Given the description of an element on the screen output the (x, y) to click on. 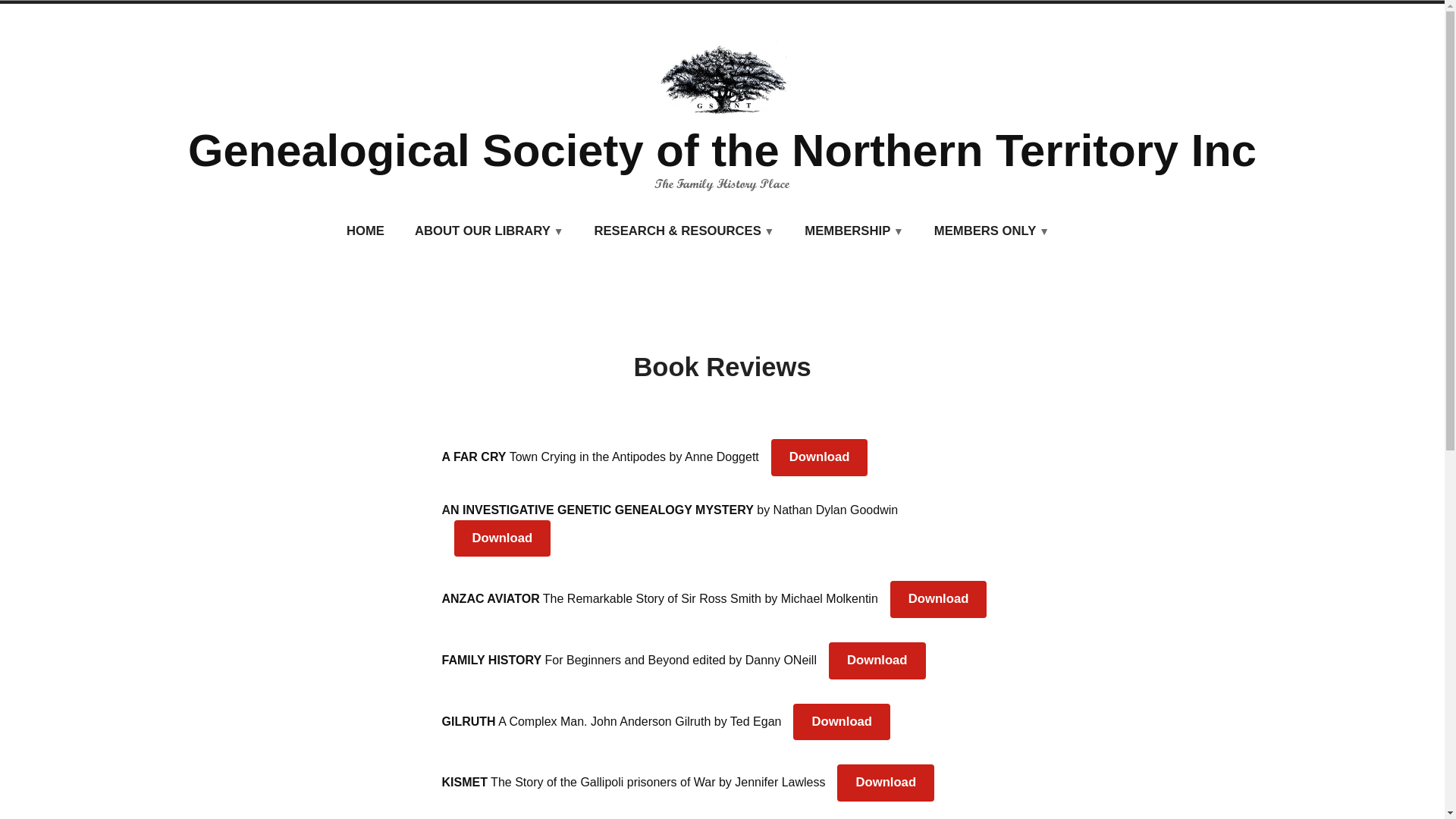
HOME Element type: text (365, 232)
MEMBERSHIP Element type: text (854, 232)
Download Element type: text (885, 782)
Download Element type: text (876, 660)
Download Element type: text (819, 457)
RESEARCH & RESOURCES Element type: text (683, 232)
Download Element type: text (841, 721)
Genealogical Society of the Northern Territory Inc Element type: text (722, 150)
GILRUTH A Complex Man. John Anderson Gilruth by Ted Egan Element type: text (611, 721)
A FAR CRY Town Crying in the Antipodes by Anne Doggett Element type: text (599, 456)
Download Element type: text (938, 599)
ABOUT OUR LIBRARY Element type: text (489, 232)
MEMBERS ONLY Element type: text (991, 232)
Download Element type: text (501, 538)
